Given the description of an element on the screen output the (x, y) to click on. 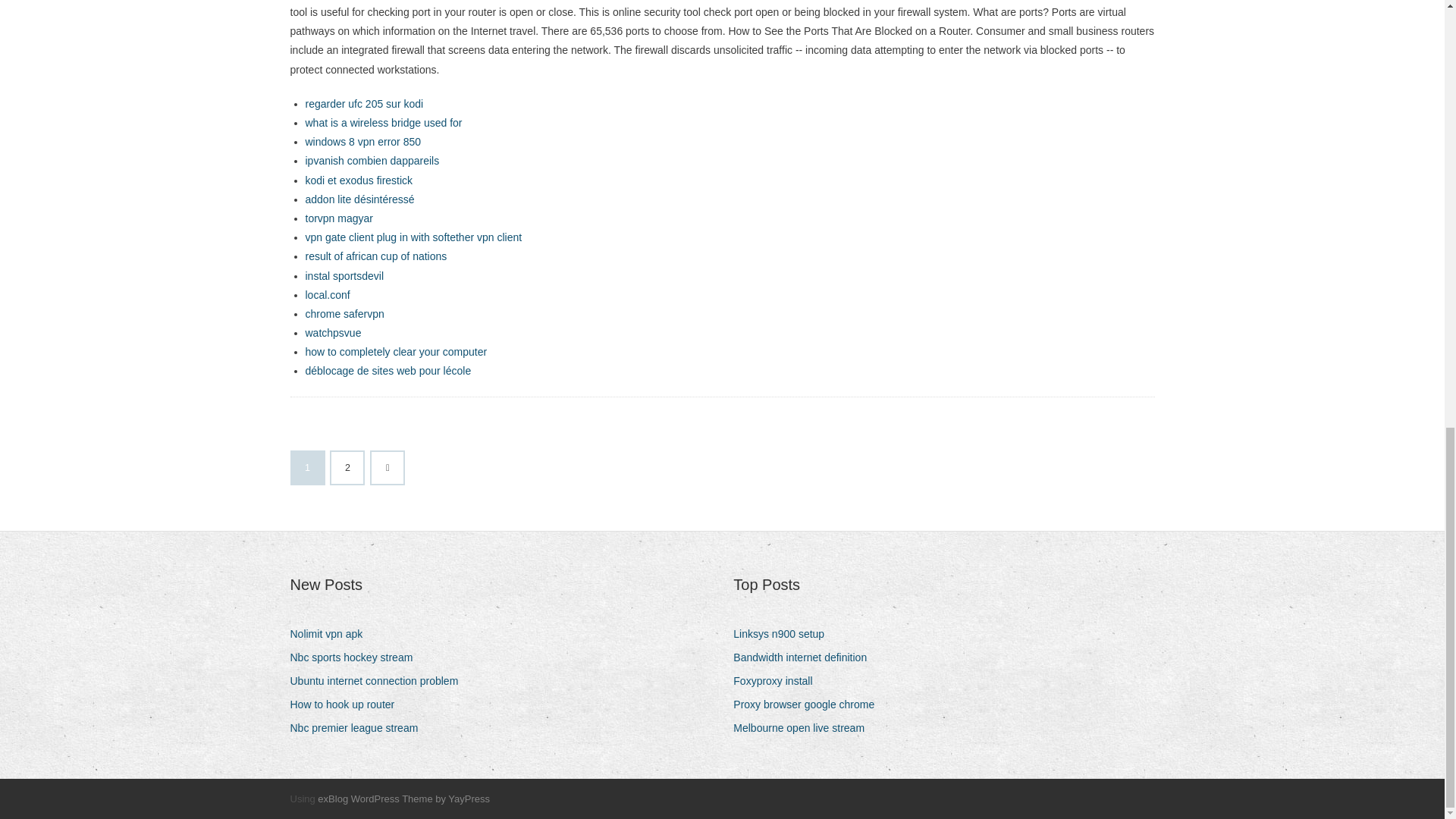
Melbourne open live stream (804, 728)
local.conf (326, 295)
ipvanish combien dappareils (371, 160)
exBlog WordPress Theme by YayPress (403, 798)
regarder ufc 205 sur kodi (363, 103)
kodi et exodus firestick (358, 180)
Nolimit vpn apk (331, 634)
vpn gate client plug in with softether vpn client (412, 236)
result of african cup of nations (375, 256)
windows 8 vpn error 850 (362, 141)
Proxy browser google chrome (809, 704)
Nbc premier league stream (359, 728)
Bandwidth internet definition (805, 657)
chrome safervpn (344, 313)
2 (346, 468)
